Given the description of an element on the screen output the (x, y) to click on. 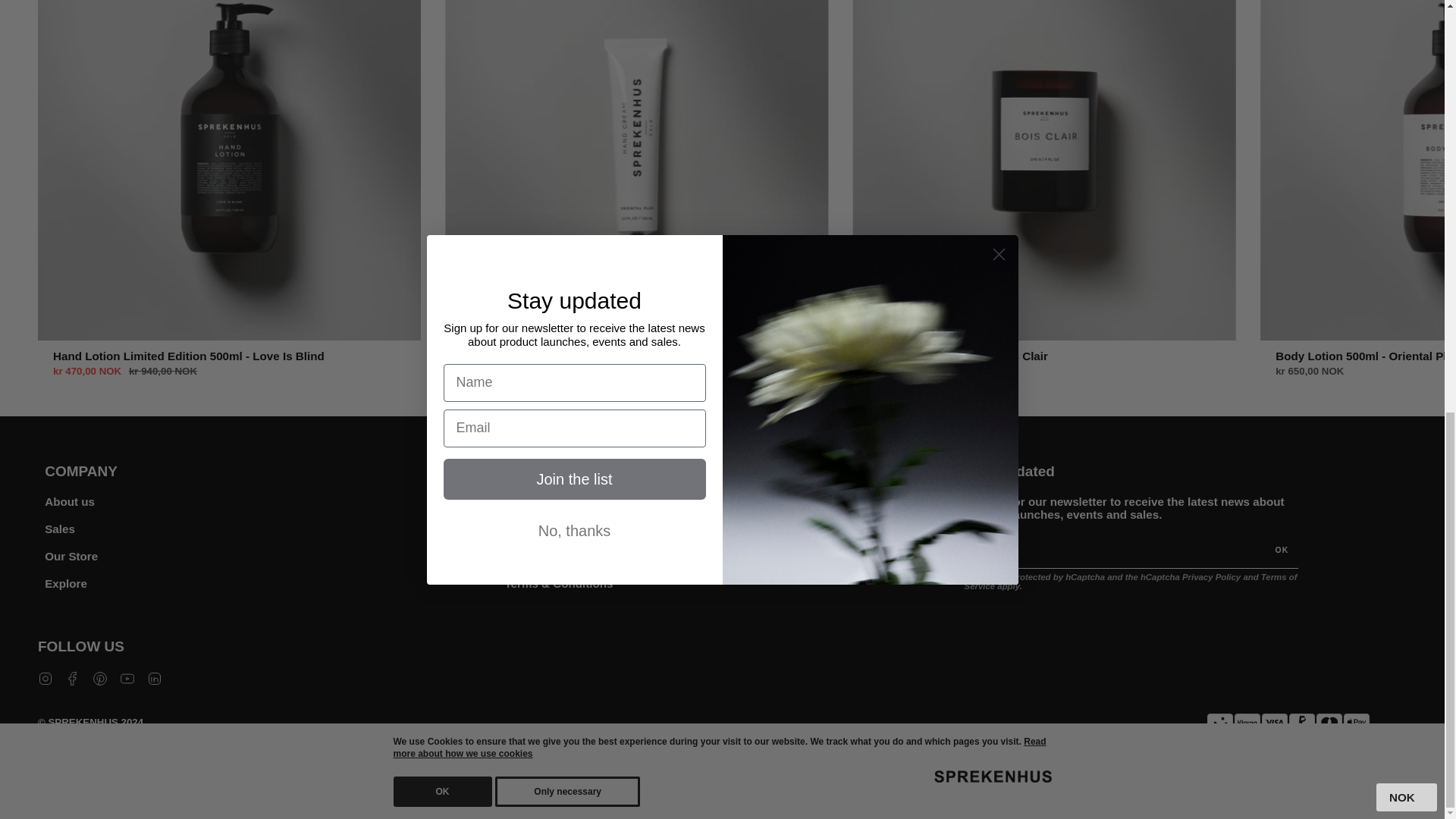
SPREKENHUS on Facebook (72, 676)
SPREKENHUS on YouTube (127, 676)
SPREKENHUS on Pinterest (100, 676)
SPREKENHUS on Linkedin (154, 676)
SPREKENHUS on Instagram (44, 676)
